Given the description of an element on the screen output the (x, y) to click on. 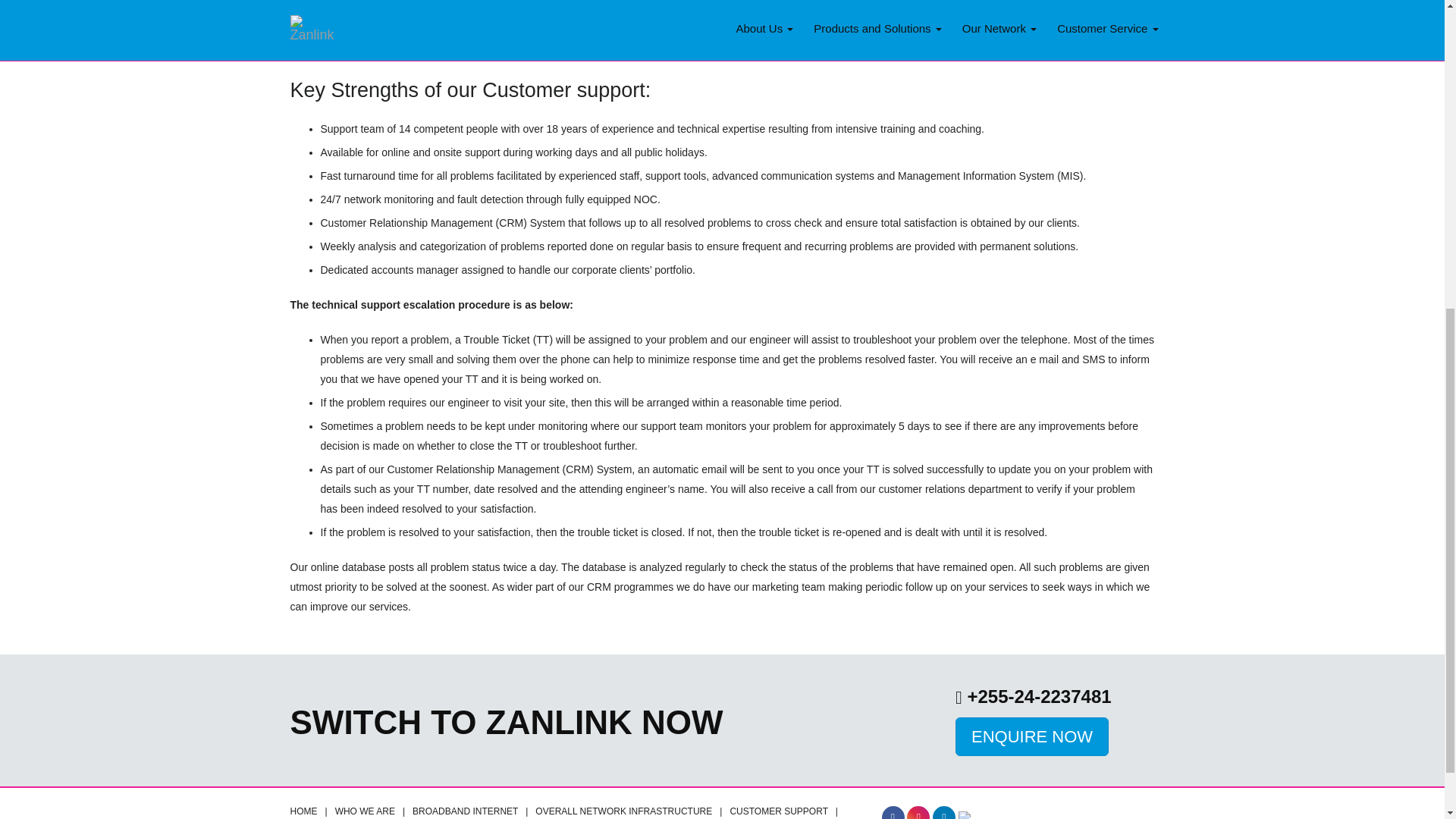
WHO WE ARE (364, 810)
OVERALL NETWORK INFRASTRUCTURE (623, 810)
HOME (303, 810)
CUSTOMER SUPPORT (778, 810)
ENQUIRE NOW (1031, 736)
BROADBAND INTERNET (465, 810)
